Given the description of an element on the screen output the (x, y) to click on. 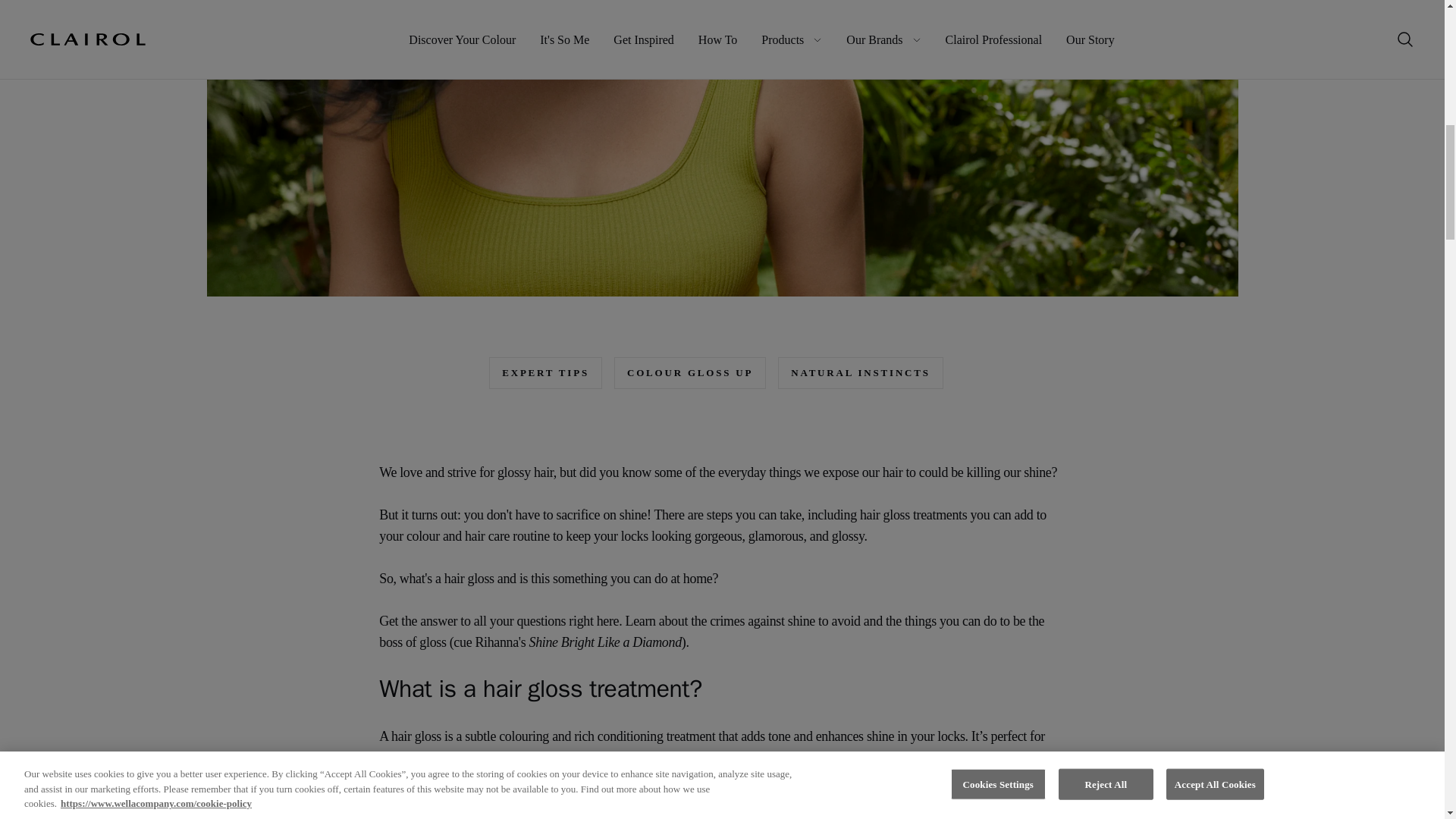
bright blue, (1031, 778)
rose (972, 778)
hot pink (934, 778)
